Given the description of an element on the screen output the (x, y) to click on. 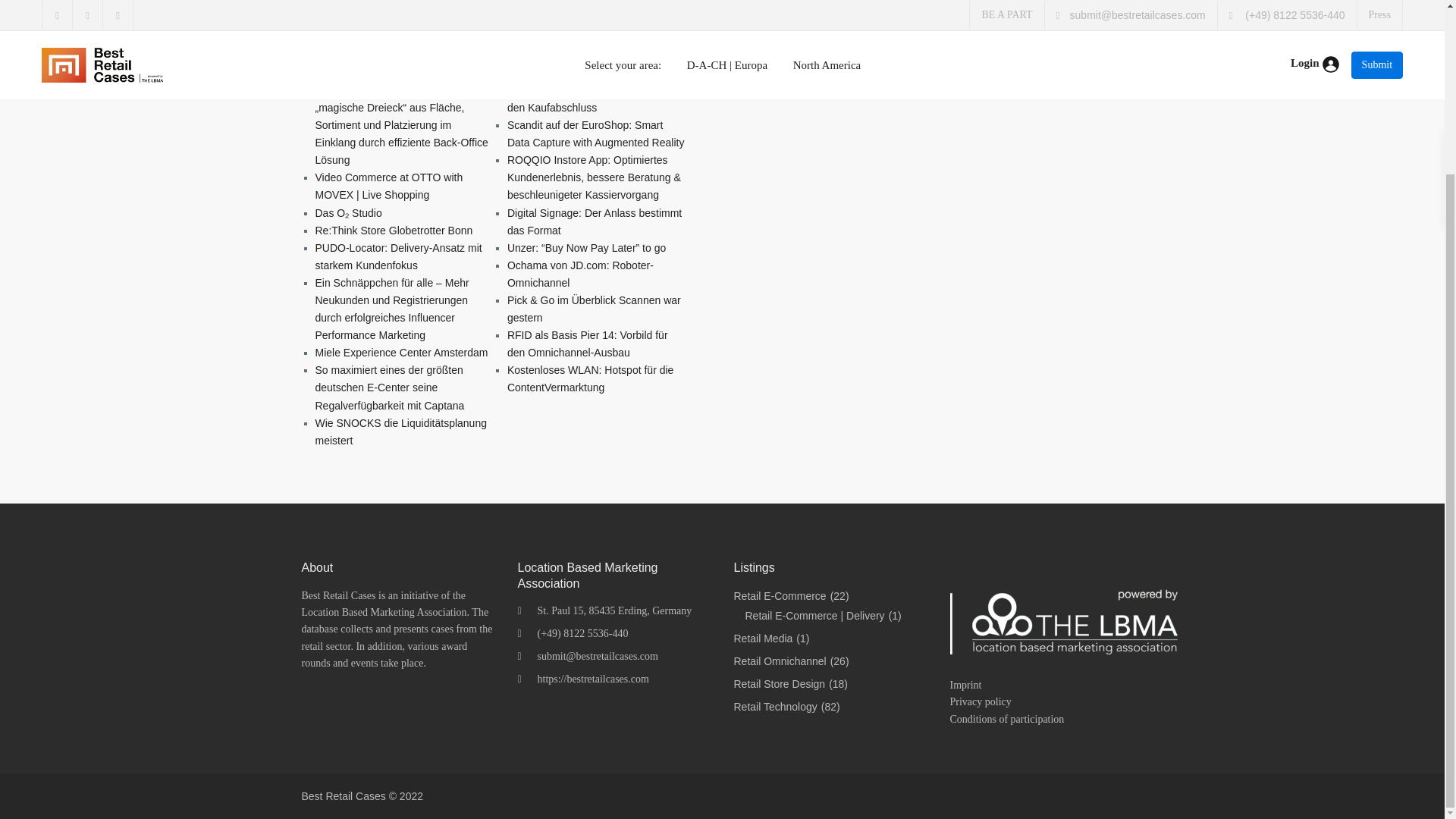
PUDO-Locator: Delivery-Ansatz mit starkem Kundenfokus (398, 256)
Re:Think Store Globetrotter Bonn (394, 230)
Miele Experience Center Amsterdam (401, 352)
